Given the description of an element on the screen output the (x, y) to click on. 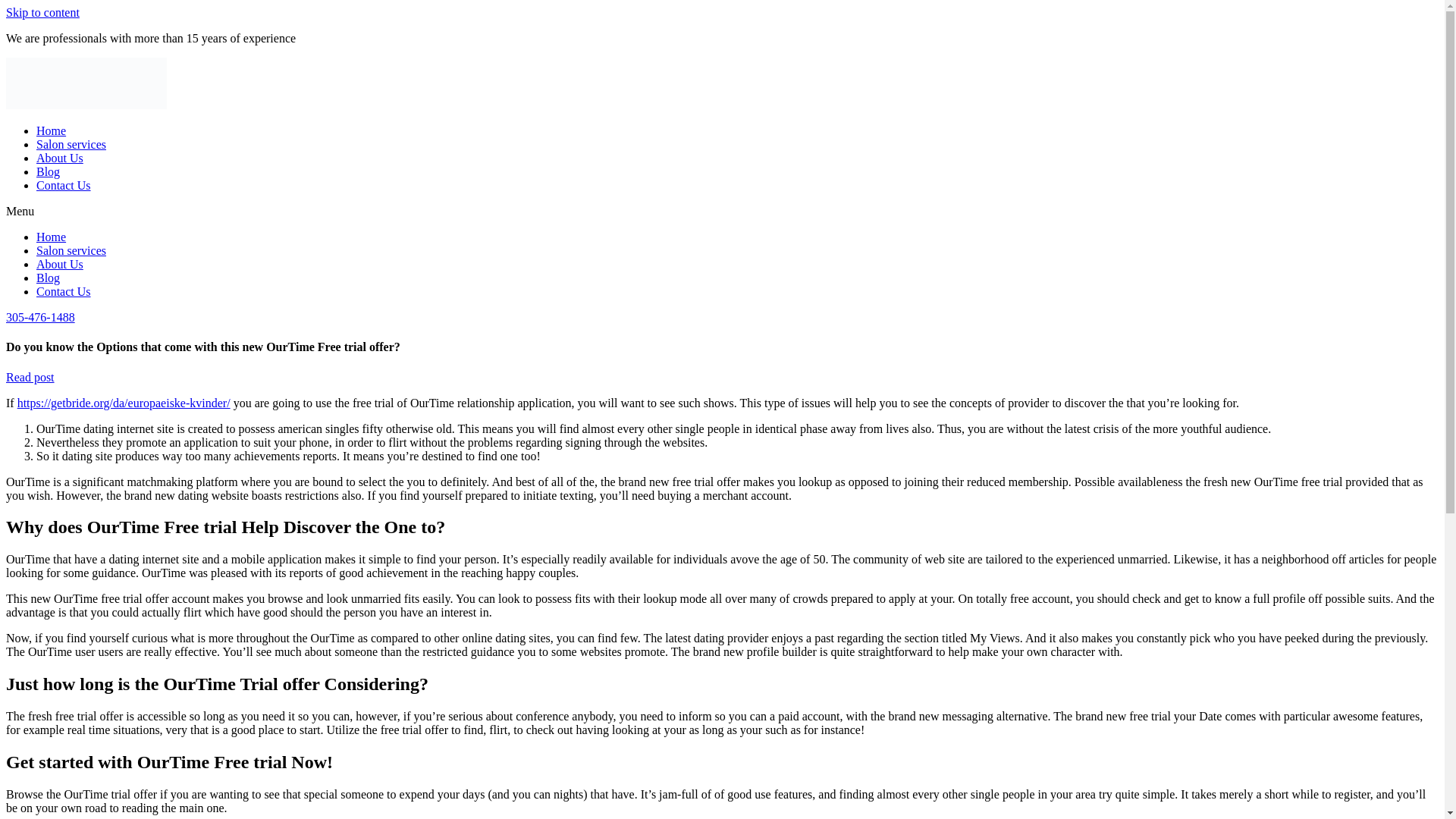
Contact Us (63, 185)
About Us (59, 264)
Home (50, 236)
Salon services (71, 250)
Blog (47, 277)
Contact Us (63, 291)
About Us (59, 157)
Skip to content (42, 11)
Home (50, 130)
Read post (30, 377)
305-476-1488 (40, 317)
Blog (47, 171)
Salon services (71, 144)
